Given the description of an element on the screen output the (x, y) to click on. 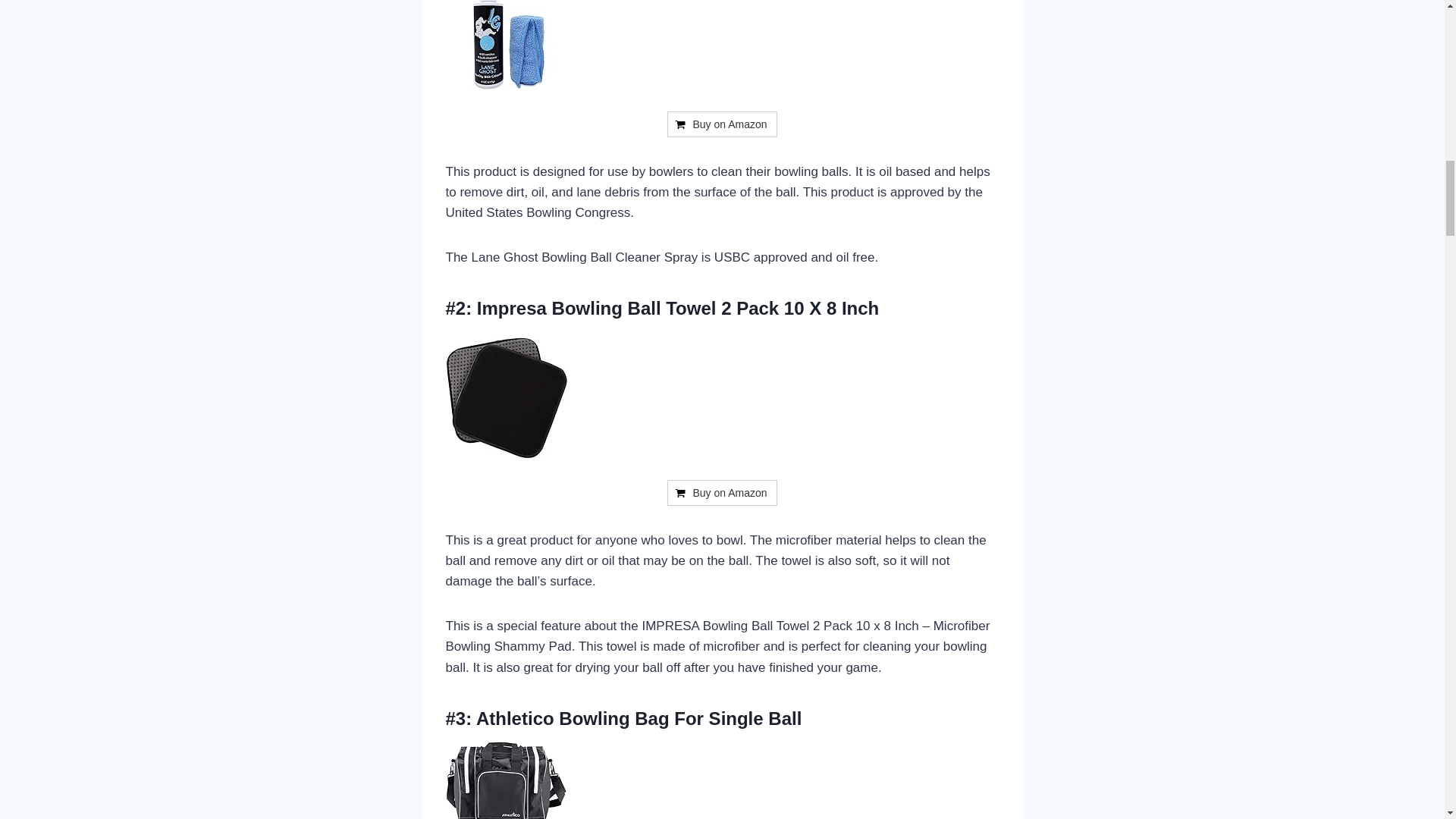
Buy on Amazon (721, 492)
Buy on Amazon (721, 492)
Buy on Amazon (721, 124)
Buy on Amazon (721, 124)
